Given the description of an element on the screen output the (x, y) to click on. 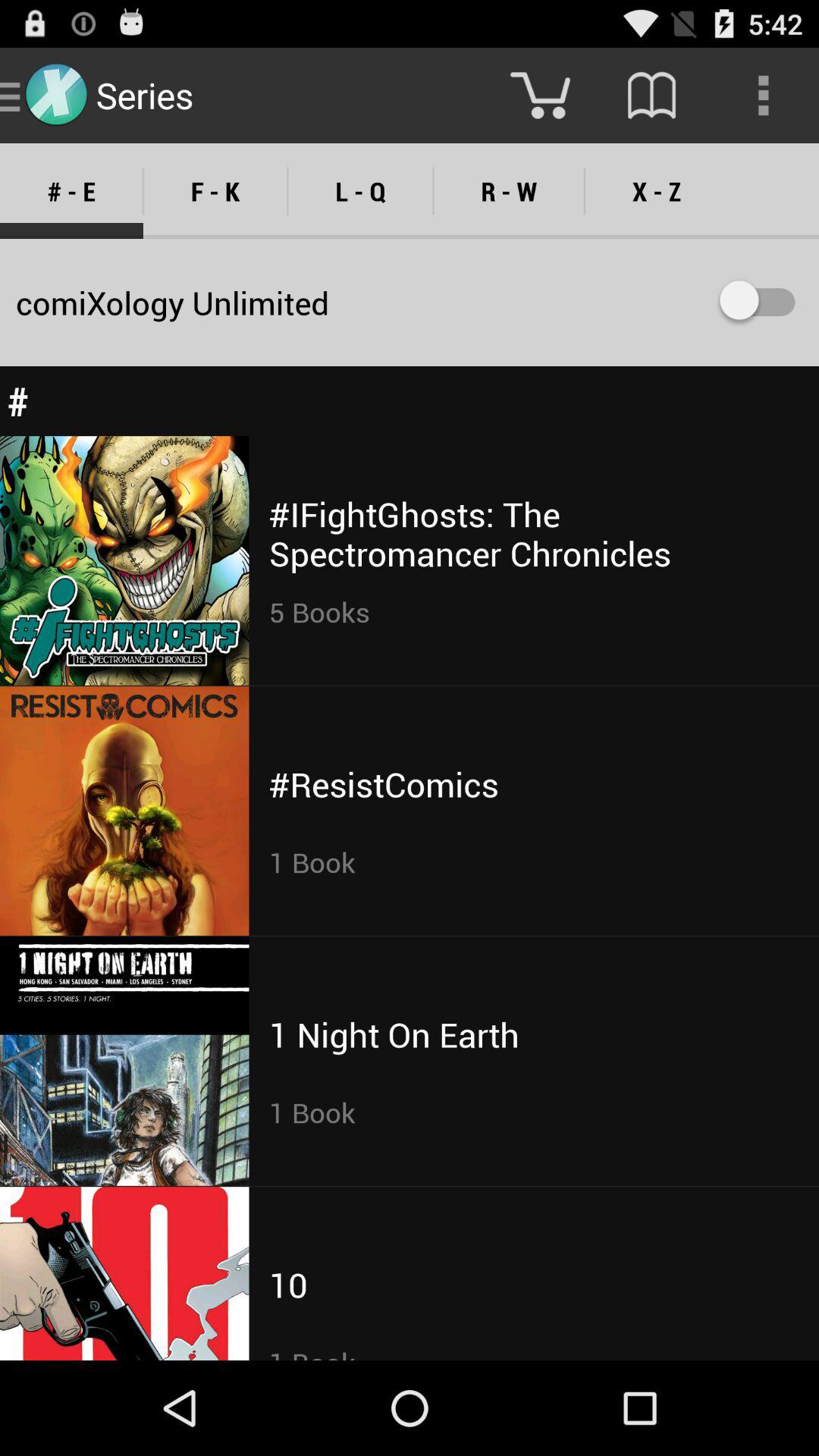
select # - e (71, 190)
